Given the description of an element on the screen output the (x, y) to click on. 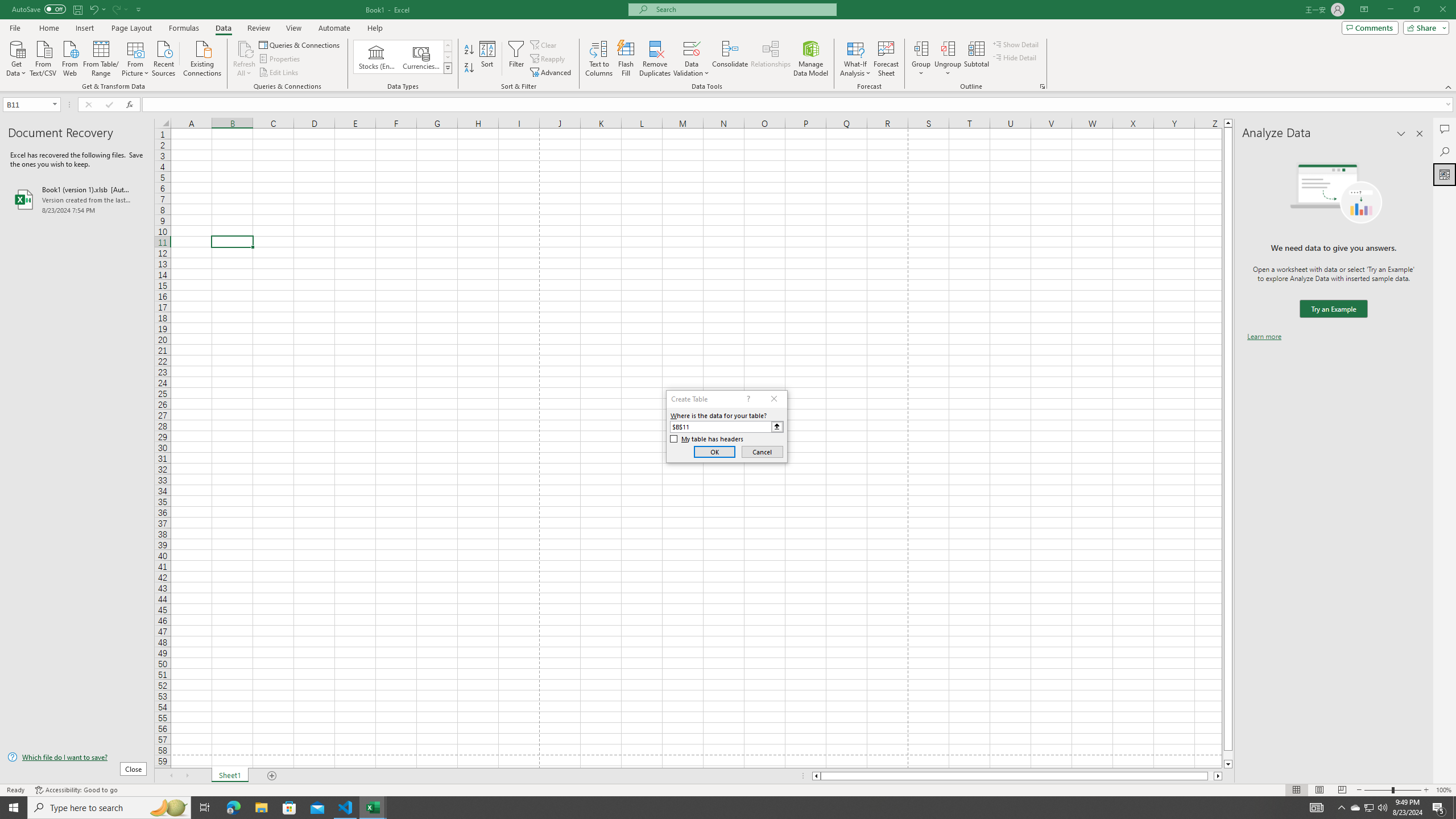
Reapply (548, 58)
Class: MsoCommandBar (728, 45)
Clear (544, 44)
Book1 (version 1).xlsb  [AutoRecovered] (77, 199)
Sort... (487, 58)
Existing Connections (202, 57)
